Given the description of an element on the screen output the (x, y) to click on. 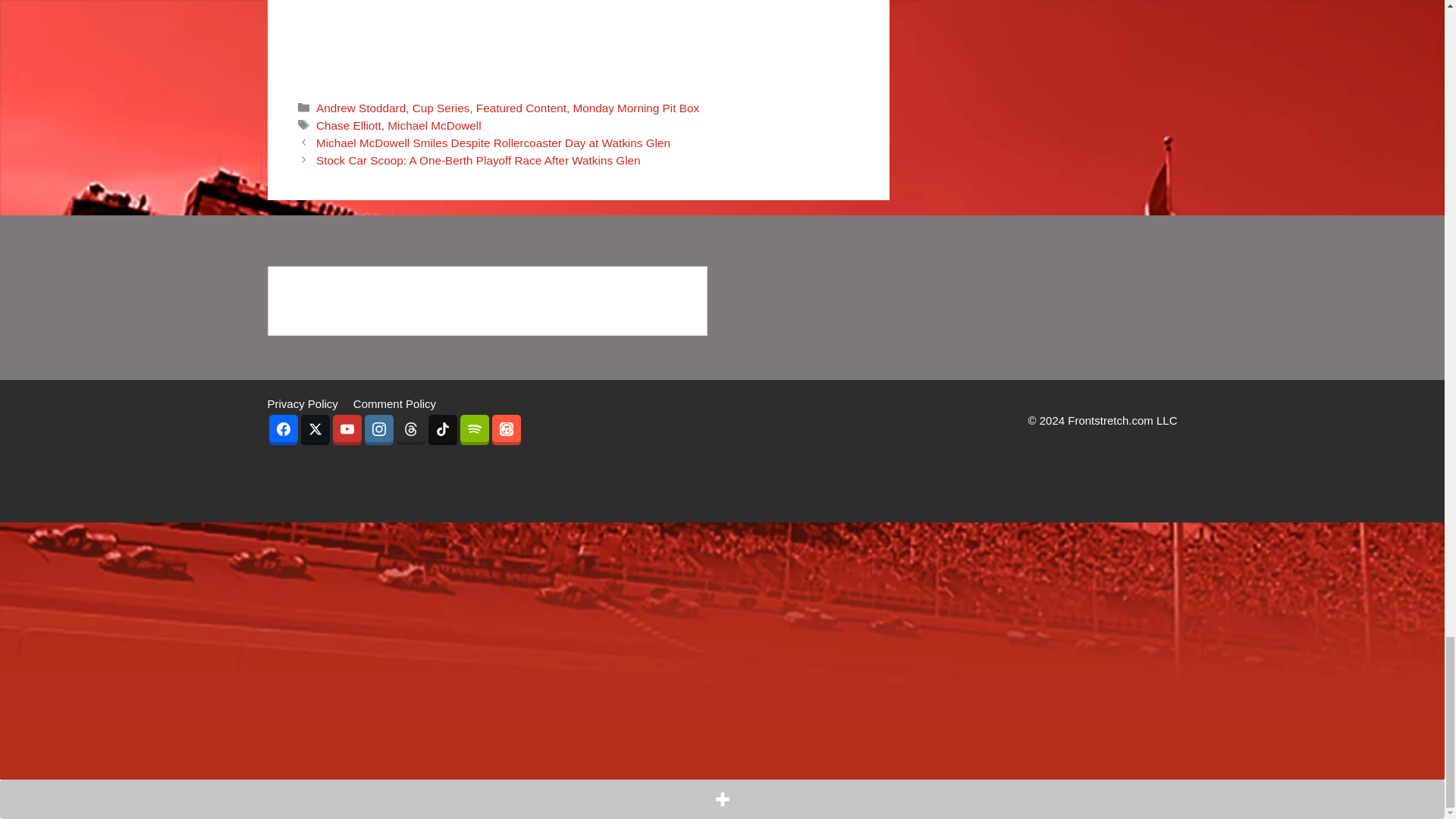
Andrew Stoddard (360, 107)
